Given the description of an element on the screen output the (x, y) to click on. 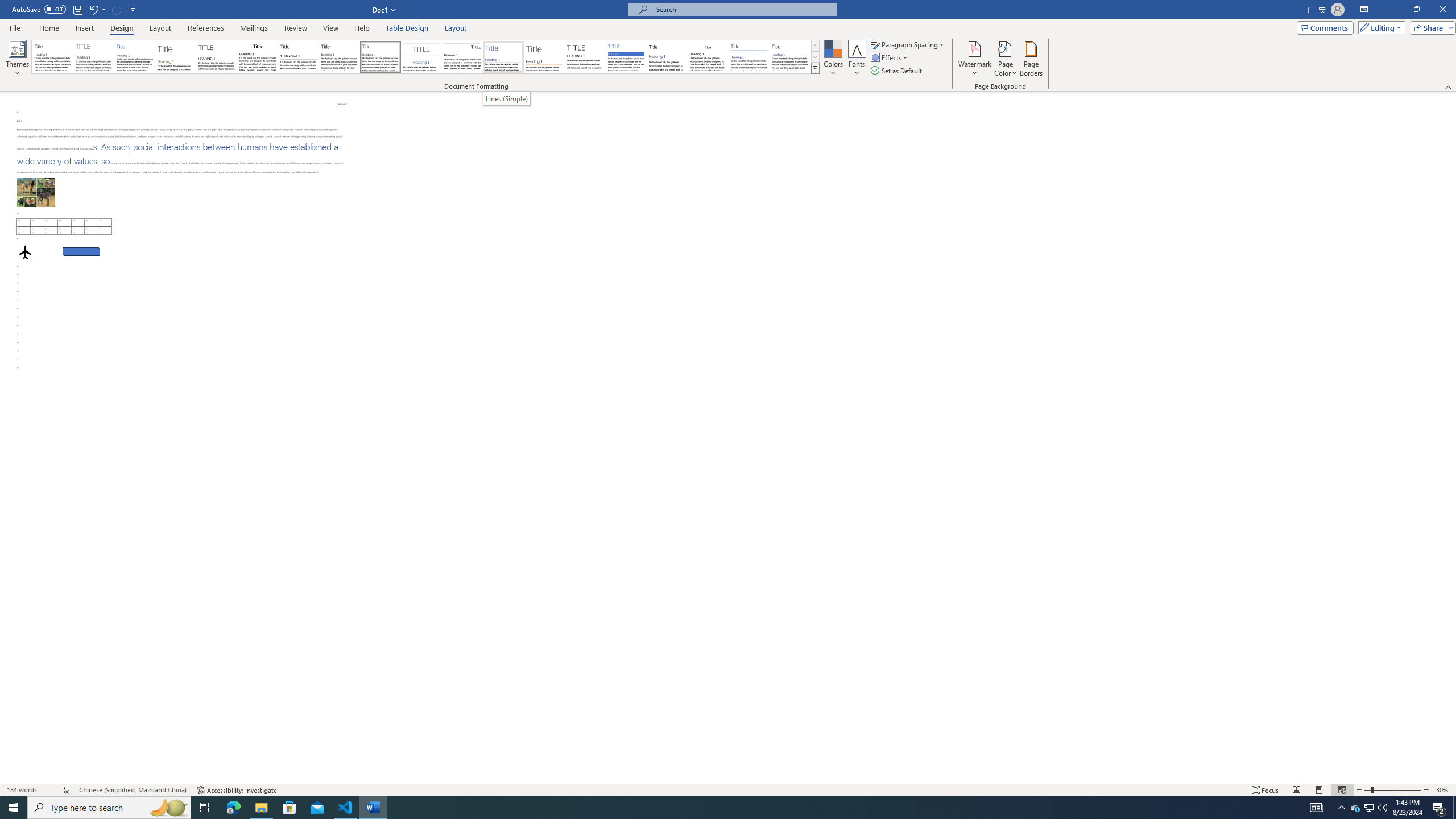
Airplane with solid fill (25, 243)
Black & White (Classic) (257, 56)
Zoom 30% (1443, 790)
Basic (Stylish) (175, 56)
Page Color (1005, 58)
Lines (Stylish) (544, 56)
Can't Repeat (117, 9)
Fonts (856, 58)
Black & White (Word 2013) (338, 56)
